Given the description of an element on the screen output the (x, y) to click on. 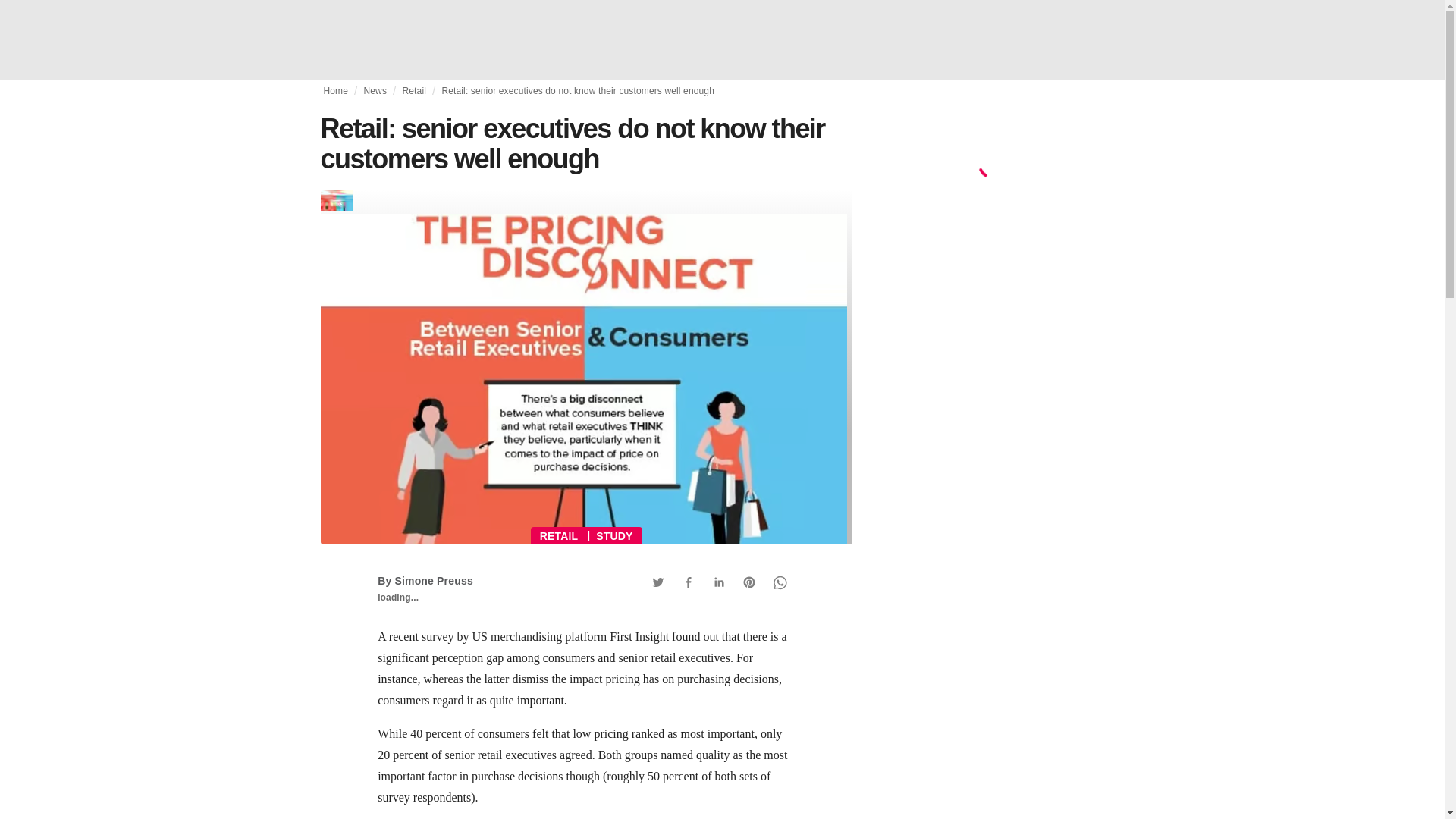
News (375, 90)
Retail (413, 90)
Home (335, 90)
By Simone Preuss (425, 580)
